Given the description of an element on the screen output the (x, y) to click on. 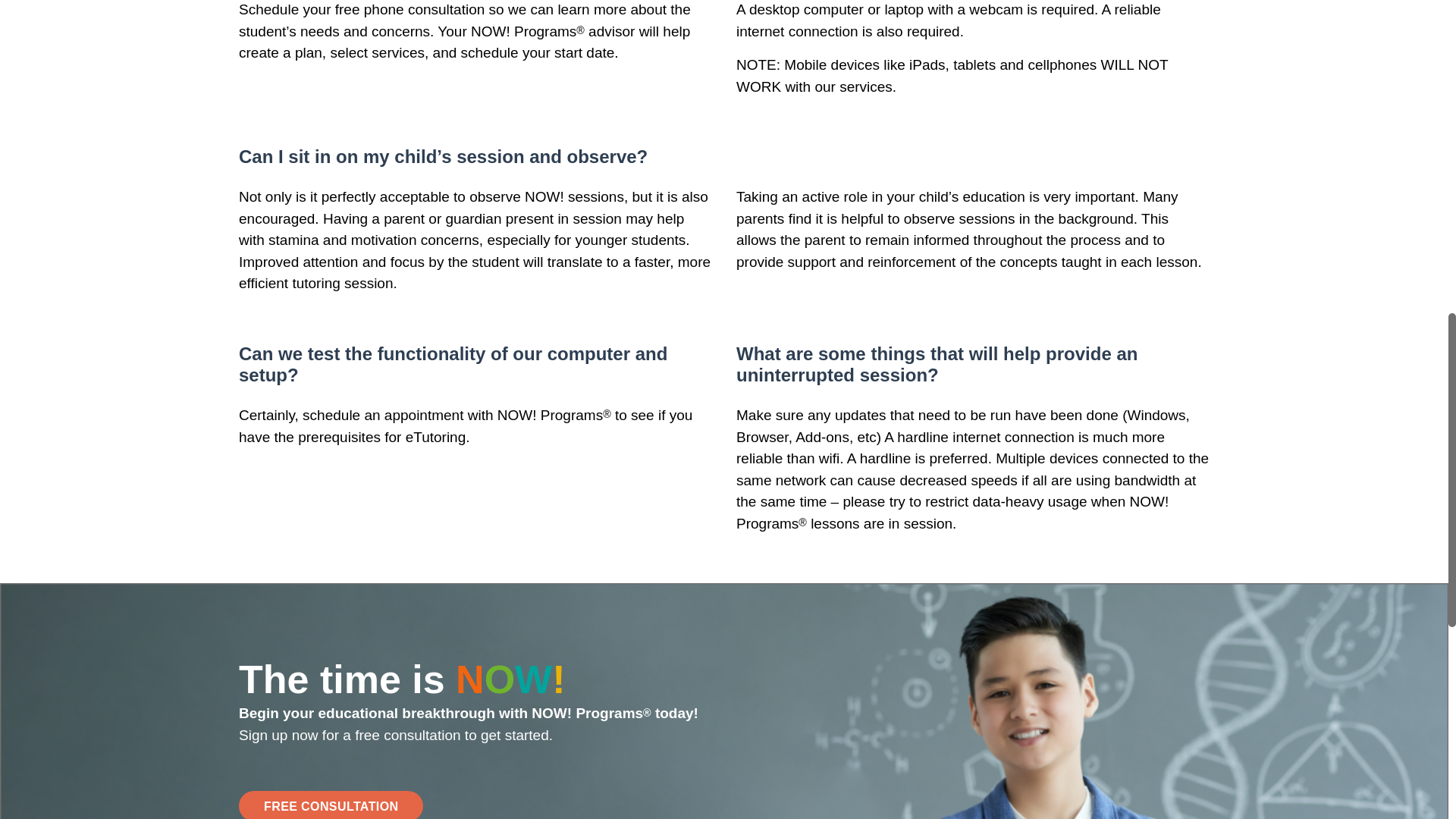
FREE CONSULTATION (330, 805)
